Given the description of an element on the screen output the (x, y) to click on. 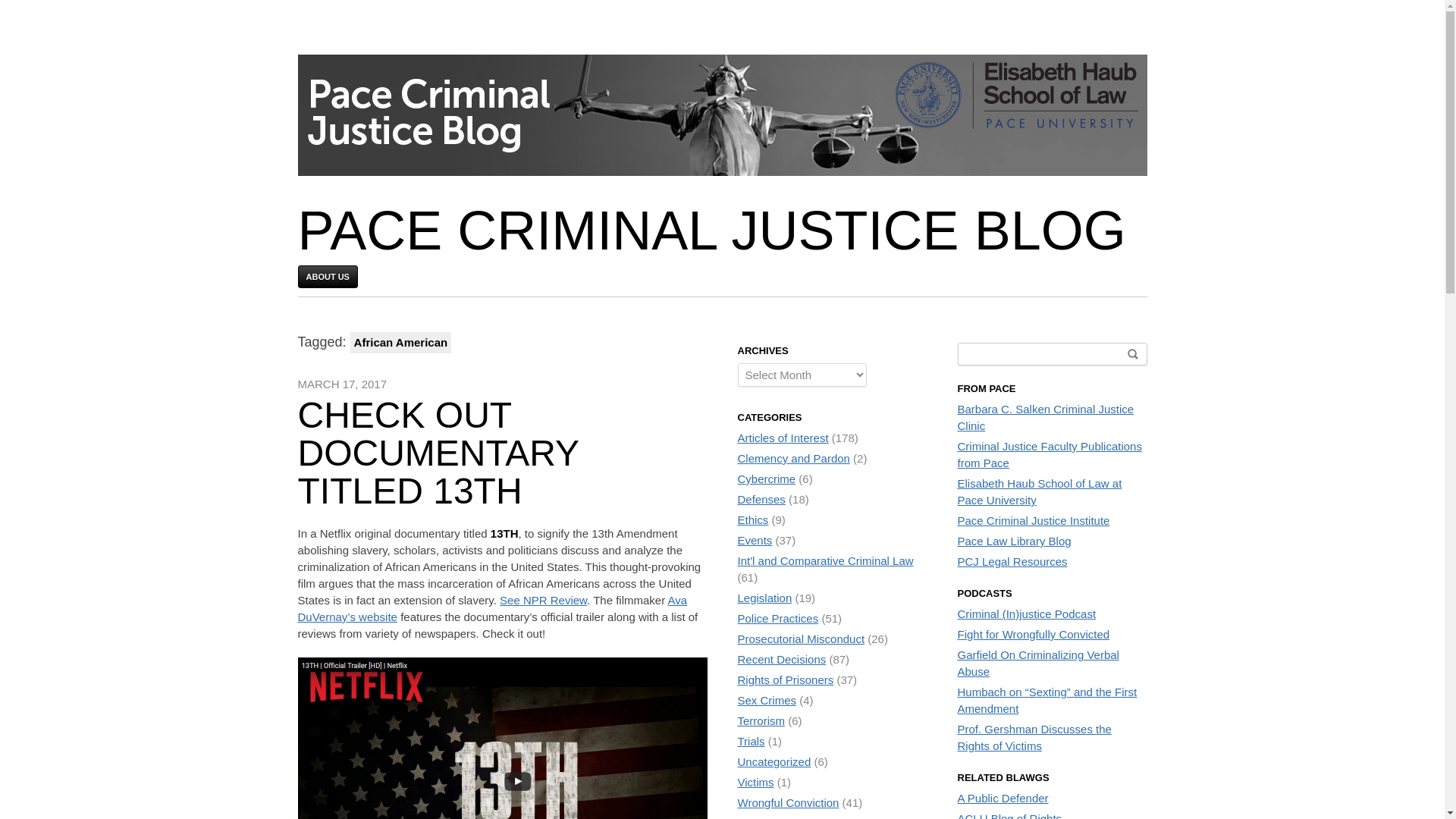
PACE CRIMINAL JUSTICE BLOG (711, 230)
ABOUT US (326, 276)
Permalink to Check Out Documentary Titled 13TH (437, 452)
Pace Criminal Justice Blog (711, 230)
CHECK OUT DOCUMENTARY TITLED 13TH (437, 452)
See NPR Review (542, 599)
